Given the description of an element on the screen output the (x, y) to click on. 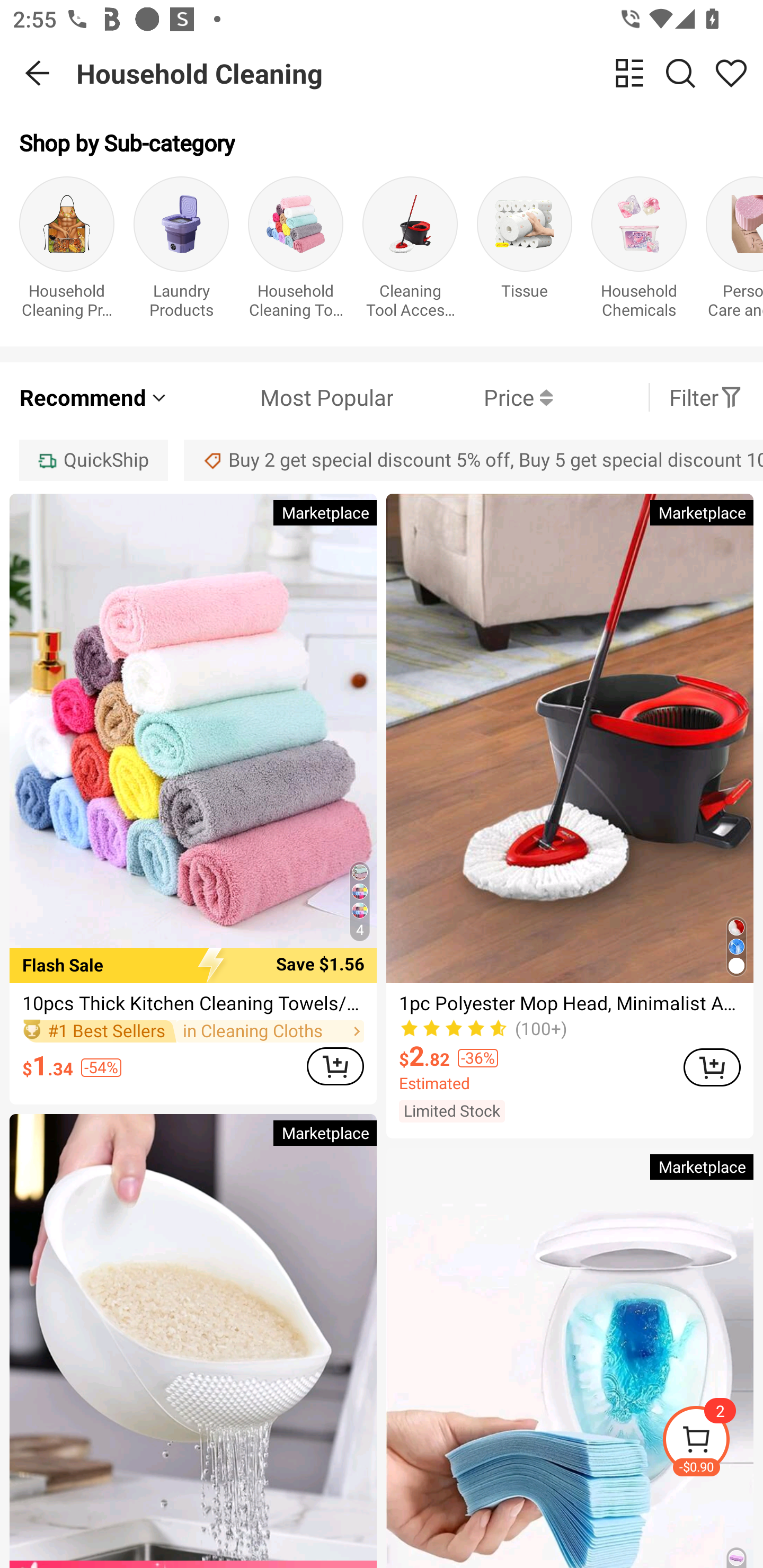
Household Cleaning change view Search Share (419, 72)
change view (629, 72)
Search (679, 72)
Share (730, 72)
Household Cleaning Protections (66, 251)
Laundry Products (180, 251)
Household Cleaning Tools (295, 251)
Cleaning Tool Accessories (409, 251)
Tissue (524, 251)
Household Chemicals (638, 251)
Recommend (94, 397)
Most Popular (280, 397)
Price (472, 397)
Filter (705, 397)
QuickShip (93, 460)
#1 Best Sellers in Cleaning Cloths (192, 1031)
ADD TO CART (334, 1066)
ADD TO CART (711, 1067)
-$0.90 (712, 1441)
